Given the description of an element on the screen output the (x, y) to click on. 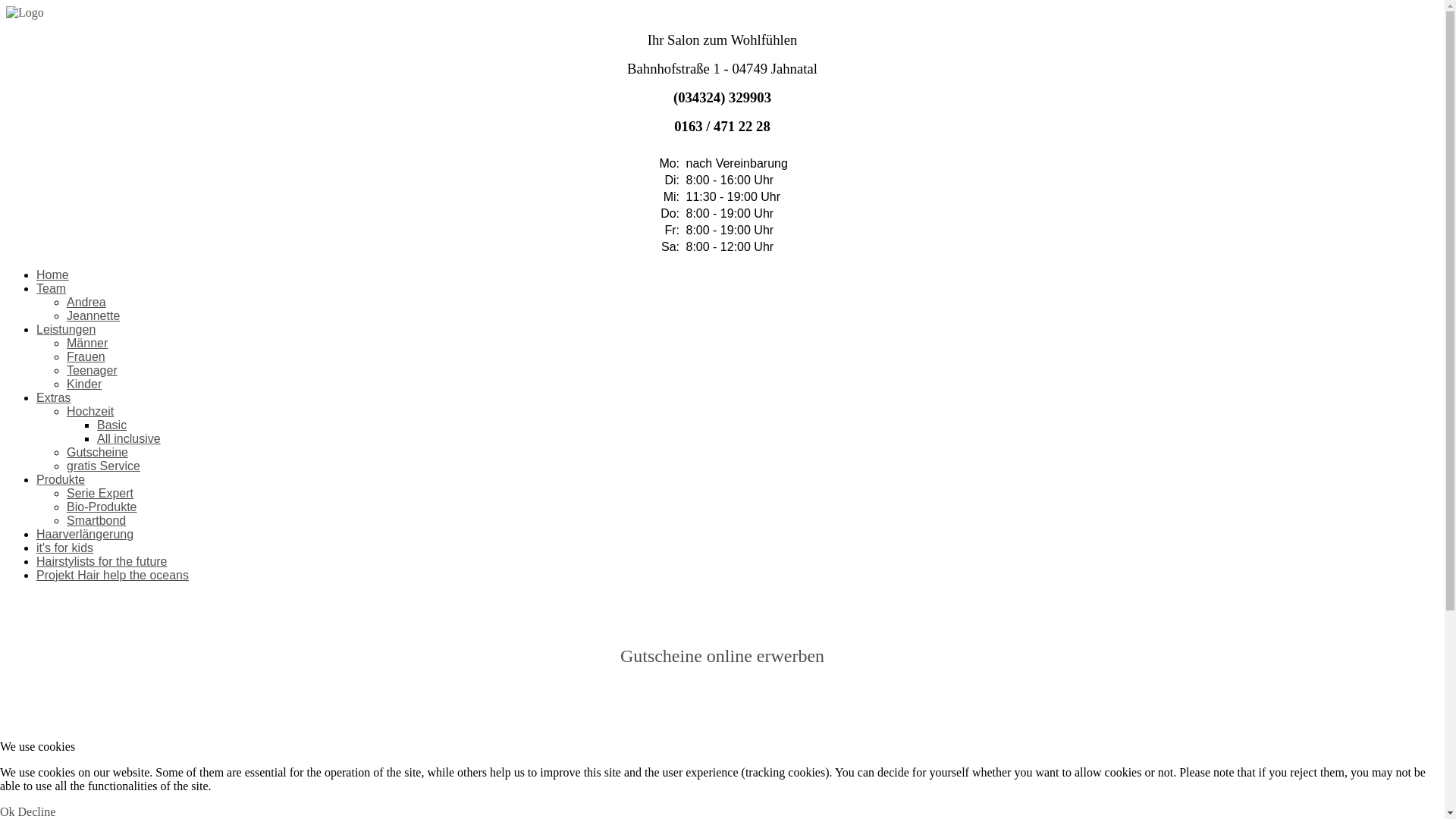
Gutscheine online erwerben Element type: text (722, 655)
it's for kids Element type: text (64, 547)
gratis Service Element type: text (103, 465)
Frauen Element type: text (85, 356)
Bio-Produkte Element type: text (101, 506)
Serie Expert Element type: text (99, 492)
Smartbond Element type: text (95, 520)
Ok Element type: text (7, 811)
Kinder Element type: text (83, 383)
Basic Element type: text (111, 424)
Andrea Element type: text (86, 301)
Home Element type: text (52, 274)
Teenager Element type: text (91, 370)
Hochzeit Element type: text (89, 410)
Leistungen Element type: text (65, 329)
Produkte Element type: text (60, 479)
Projekt Hair help the oceans Element type: text (112, 574)
Hairstylists for the future Element type: text (101, 561)
Gutscheine Element type: text (97, 451)
Extras Element type: text (53, 397)
All inclusive Element type: text (128, 438)
Decline Element type: text (37, 811)
Team Element type: text (50, 288)
Jeannette Element type: text (92, 315)
